Given the description of an element on the screen output the (x, y) to click on. 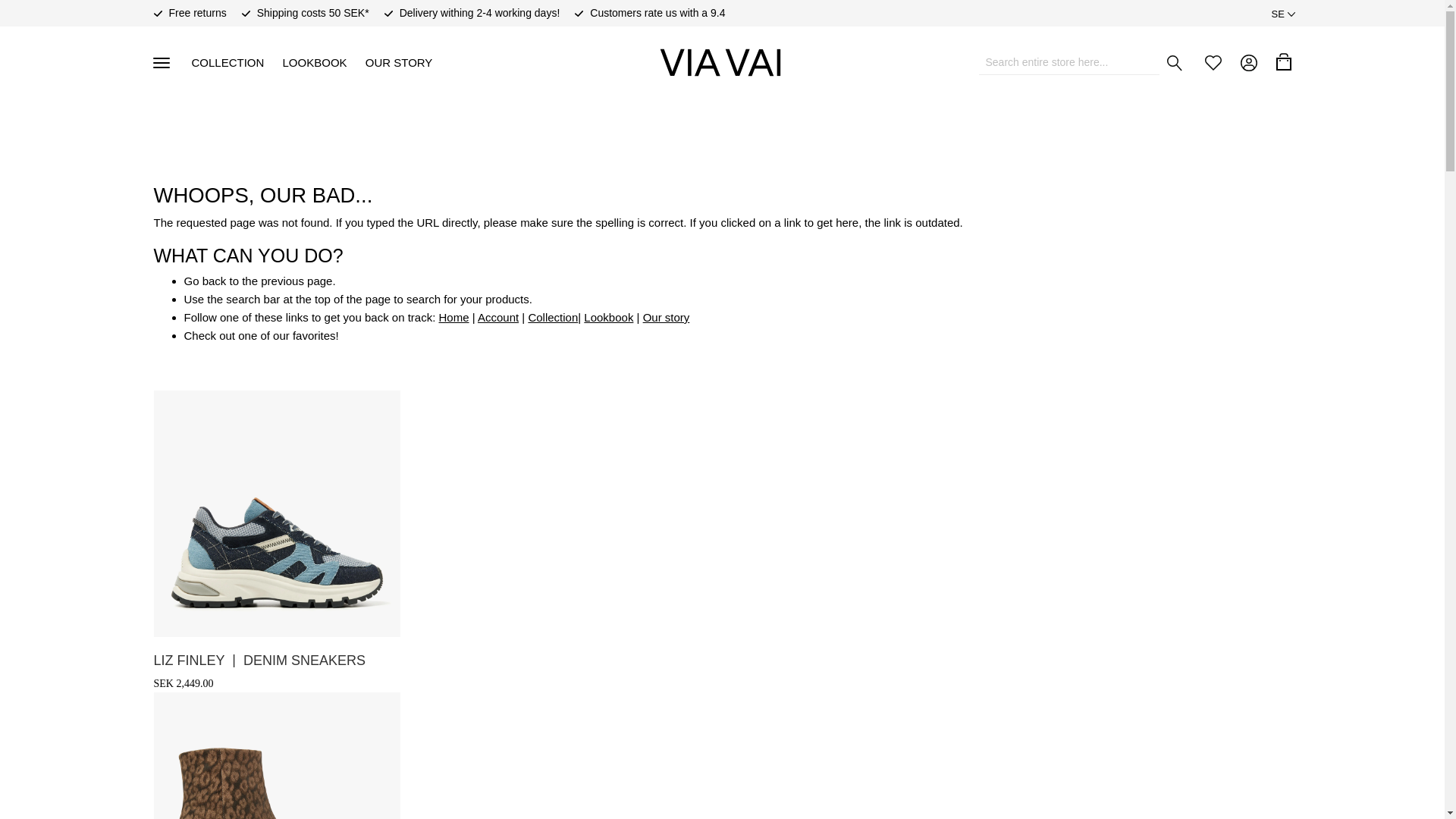
My Wish List (1212, 61)
Customers rate us with a 9.4 (657, 12)
Delivery withing 2-4 working days! (479, 12)
Free returns (196, 12)
Liz Finley (258, 660)
COLLECTION (226, 62)
My Account (1248, 62)
